Given the description of an element on the screen output the (x, y) to click on. 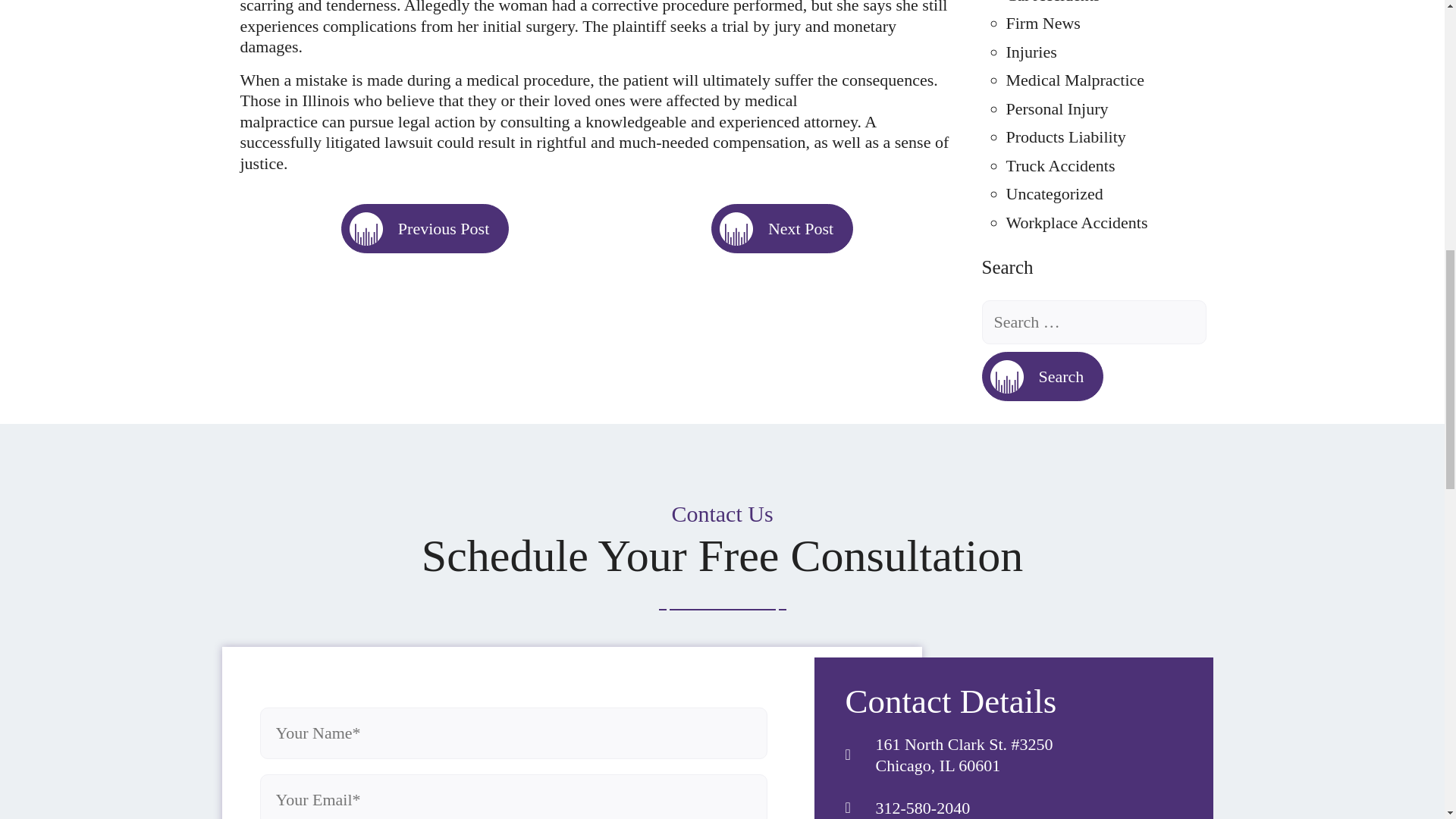
Search (1042, 376)
Car Accidents (1052, 2)
Next Post (782, 228)
Medical Malpractice (1075, 79)
Previous Post (424, 228)
Firm News (1043, 22)
Injuries (1031, 51)
Truck Accidents (1060, 165)
Workplace Accidents (1076, 221)
Products Liability (1065, 136)
Search (1042, 376)
Search (1042, 376)
Personal Injury (1057, 107)
Uncategorized (1054, 193)
